Given the description of an element on the screen output the (x, y) to click on. 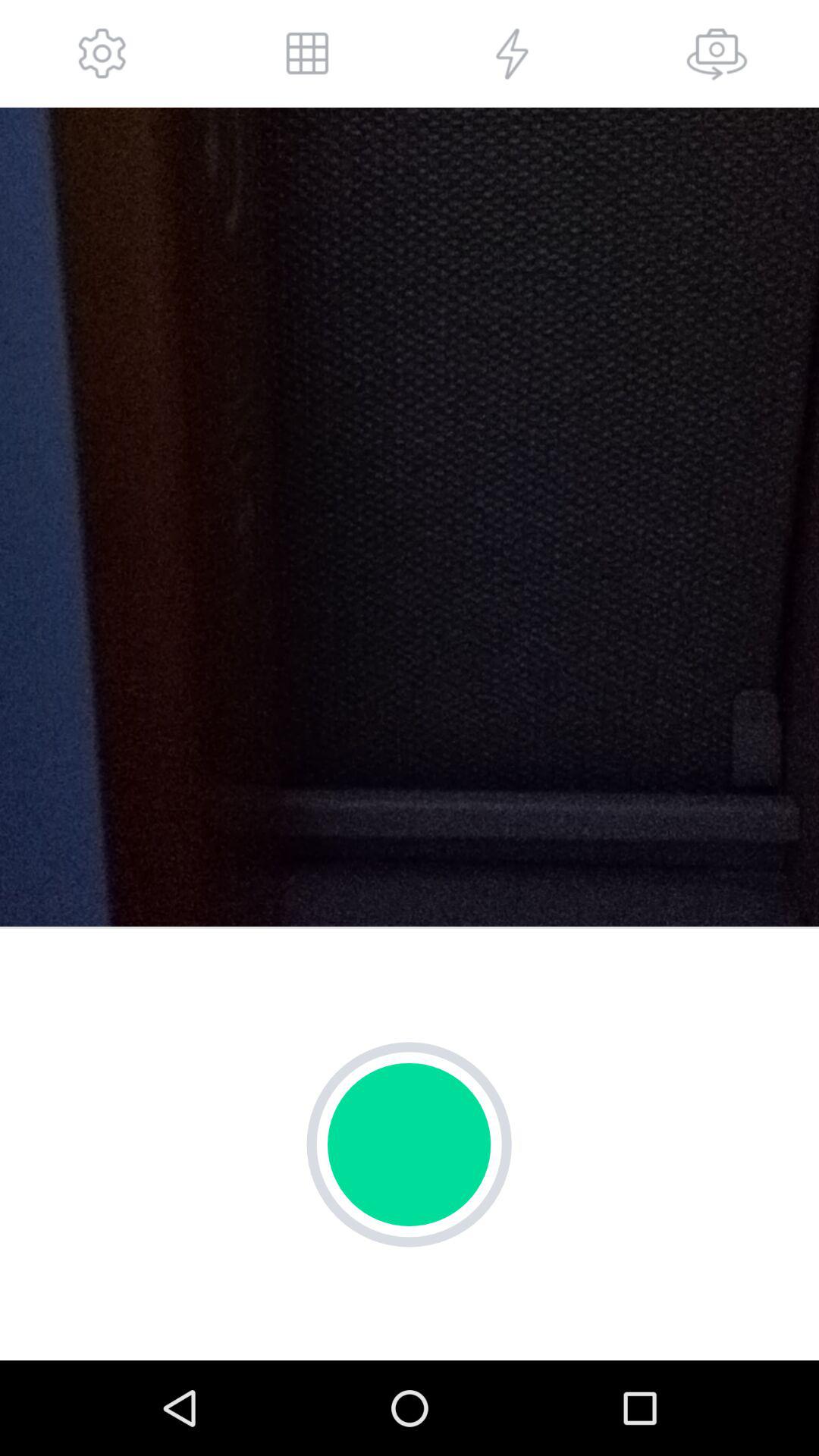
toggle flash (511, 53)
